Given the description of an element on the screen output the (x, y) to click on. 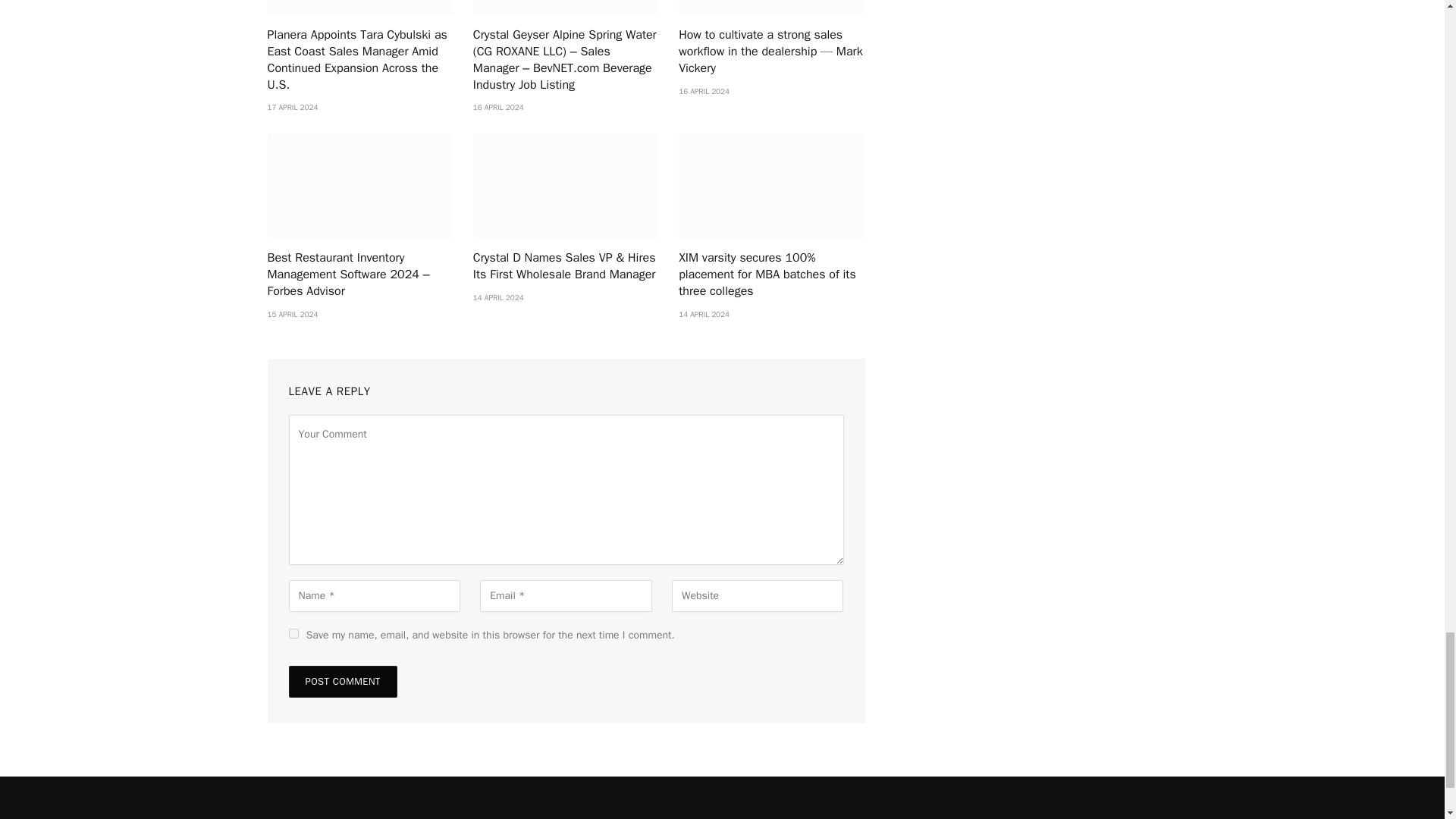
yes (293, 633)
Post Comment (342, 681)
